Given the description of an element on the screen output the (x, y) to click on. 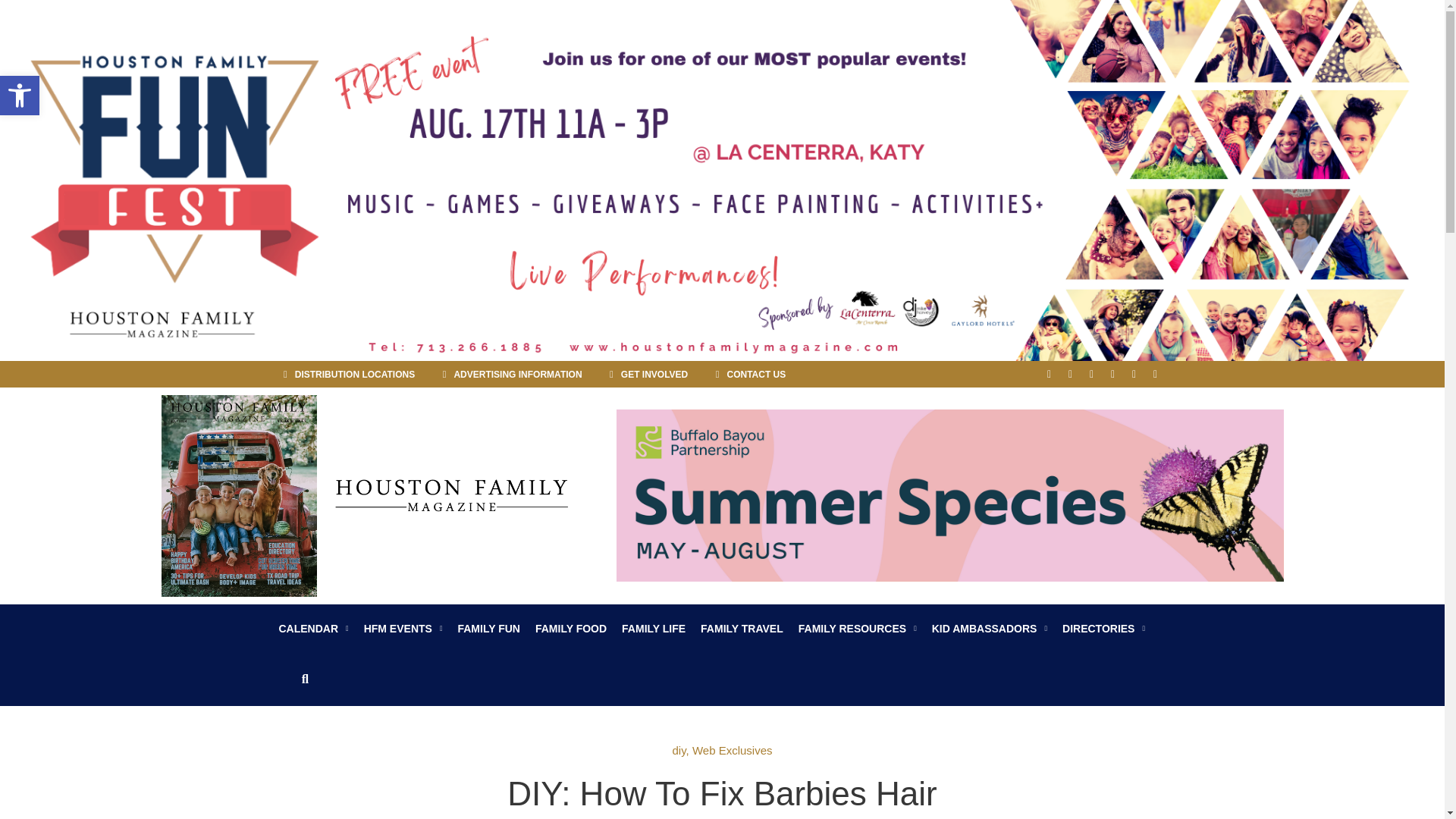
summer series (948, 495)
FAMILY TRAVEL (741, 628)
HFM EVENTS (403, 628)
GET INVOLVED (644, 374)
FAMILY FUN (488, 628)
ADVERTISING INFORMATION (506, 374)
FAMILY FOOD (571, 628)
Accessibility Tools (19, 95)
CALENDAR (314, 628)
FAMILY RESOURCES (857, 628)
FAMILY LIFE (653, 628)
DISTRIBUTION LOCATIONS (344, 374)
CONTACT US (19, 95)
Accessibility Tools (746, 374)
